Given the description of an element on the screen output the (x, y) to click on. 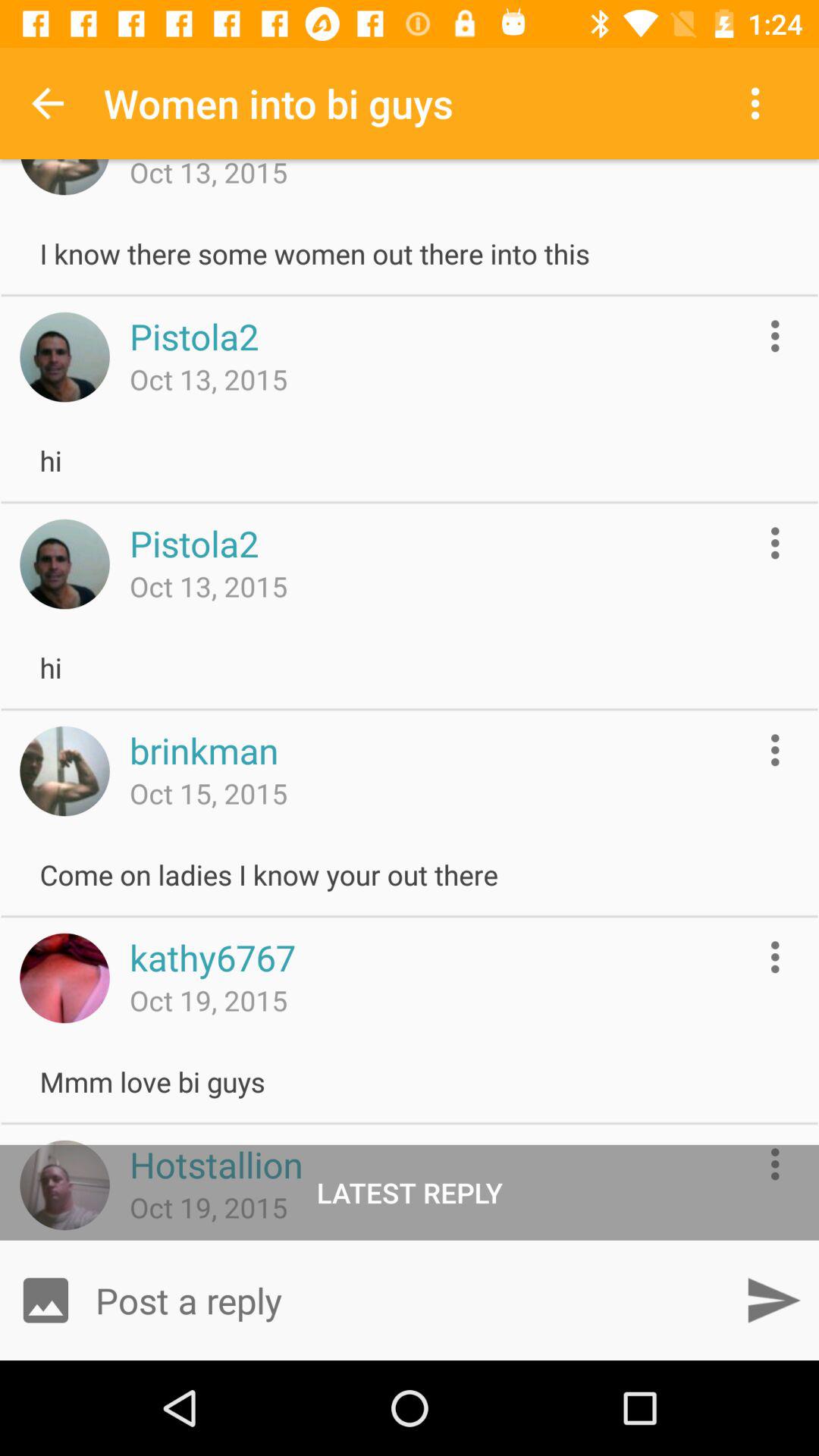
open profile (64, 978)
